Given the description of an element on the screen output the (x, y) to click on. 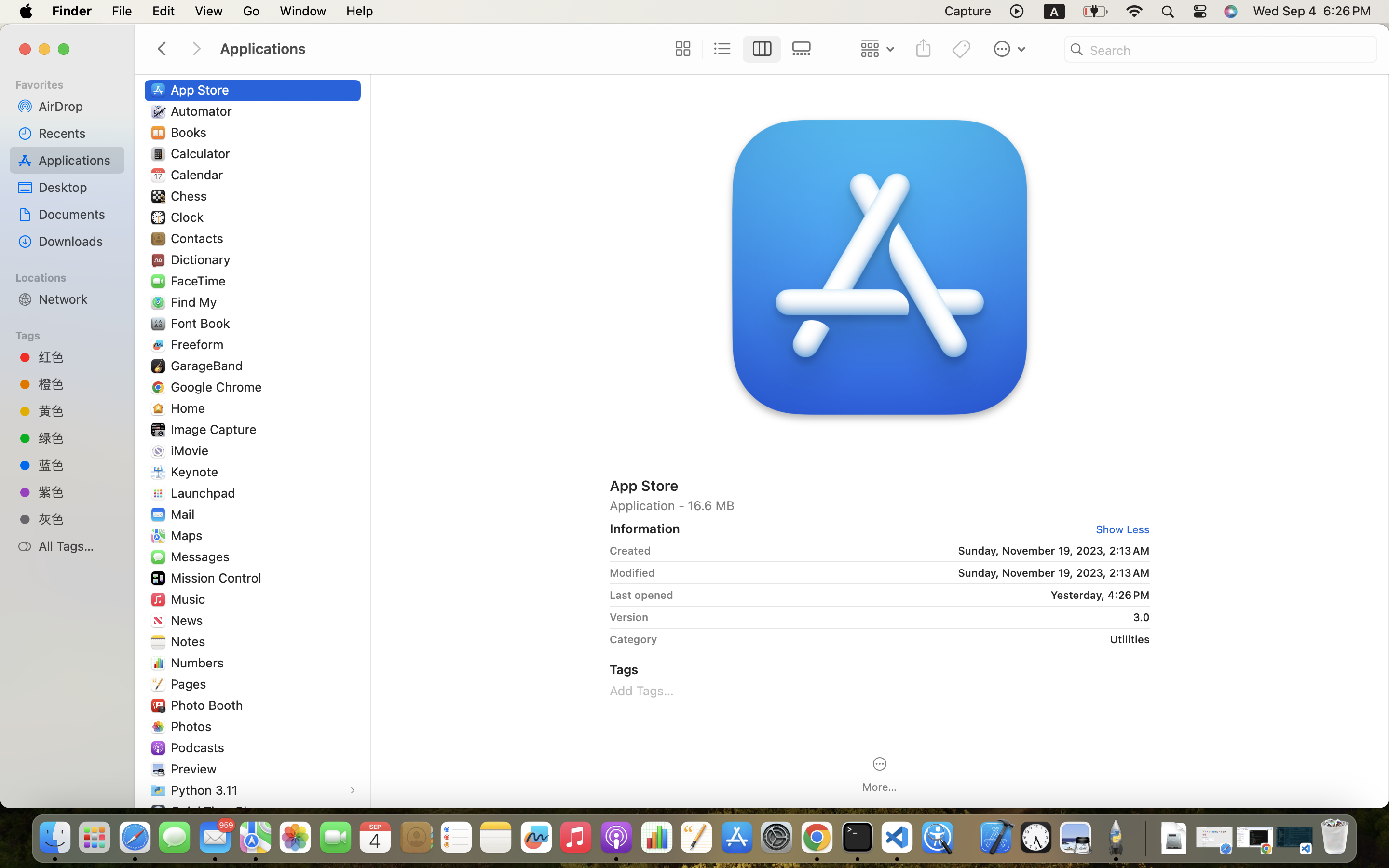
红色 Element type: AXStaticText (77, 356)
Yesterday, 4:26 PM Element type: AXStaticText (914, 594)
0.0 Element type: AXValueIndicator (364, 324)
Google Chrome Element type: AXTextField (218, 386)
Calendar Element type: AXTextField (198, 174)
